Given the description of an element on the screen output the (x, y) to click on. 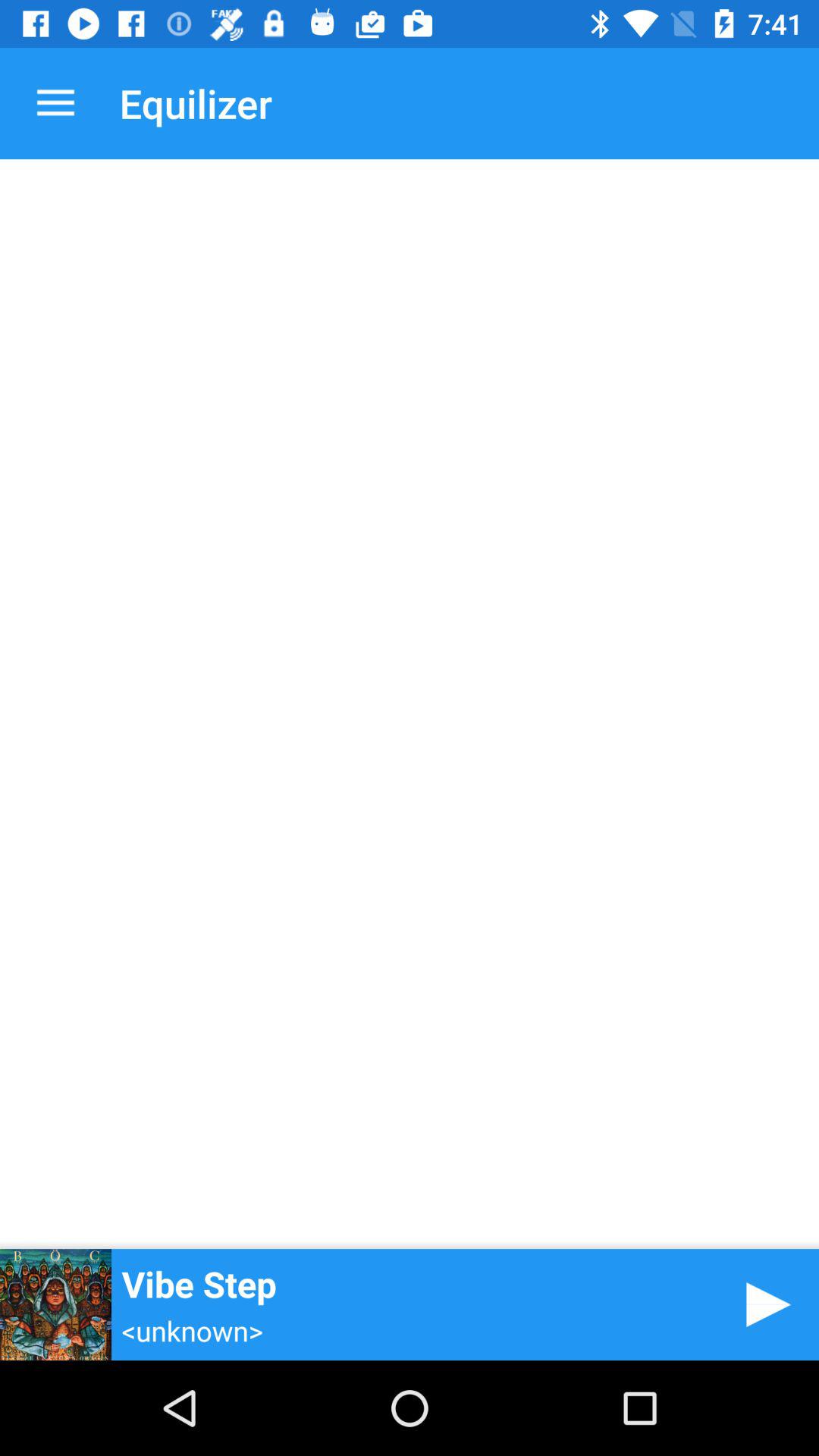
open icon at the bottom right corner (763, 1304)
